Given the description of an element on the screen output the (x, y) to click on. 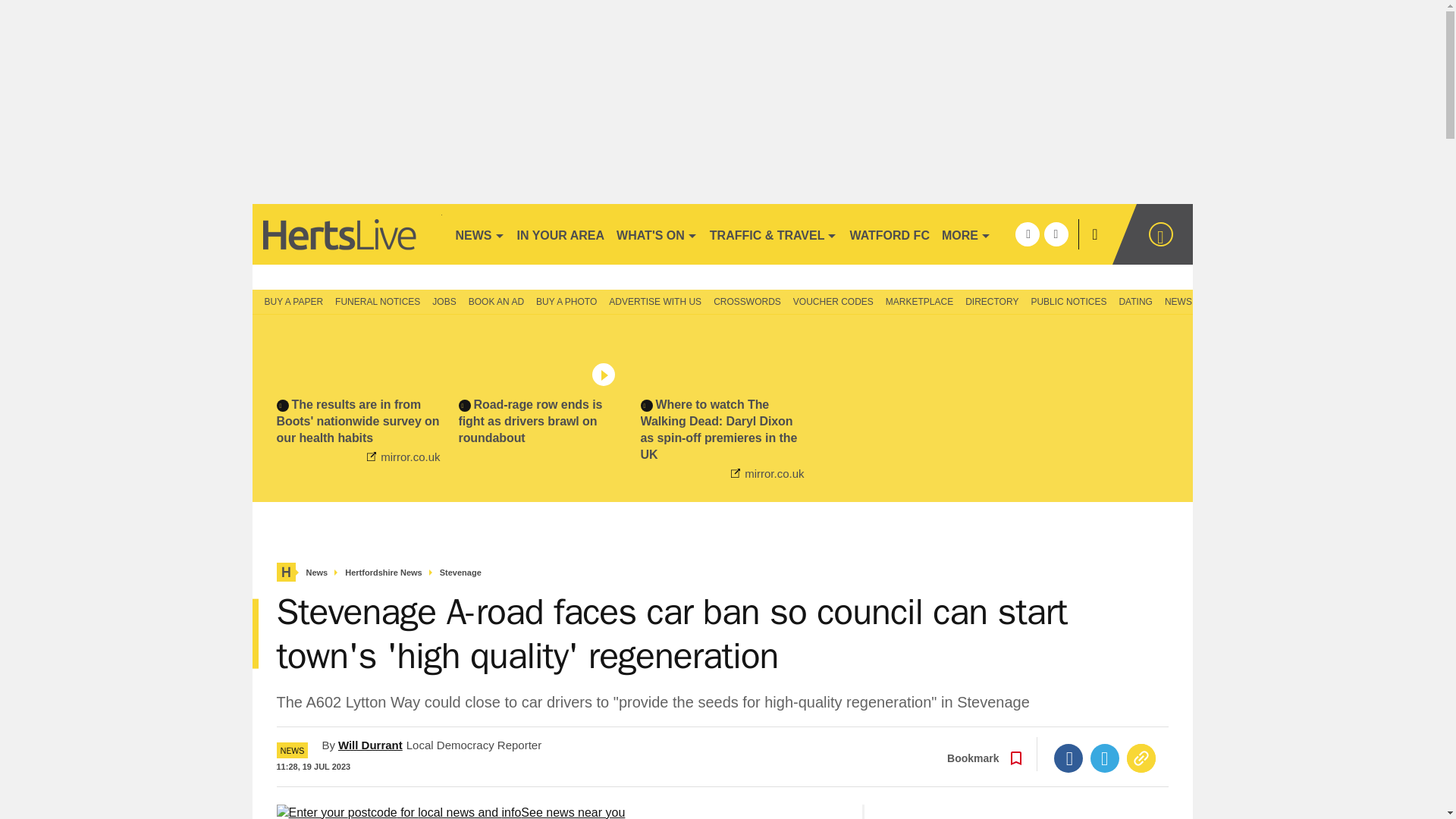
WATFORD FC (888, 233)
Facebook (1068, 758)
Twitter (1104, 758)
twitter (1055, 233)
hertfordshiremercury (346, 233)
MORE (966, 233)
IN YOUR AREA (561, 233)
facebook (1026, 233)
WHAT'S ON (656, 233)
NEWS (479, 233)
